Given the description of an element on the screen output the (x, y) to click on. 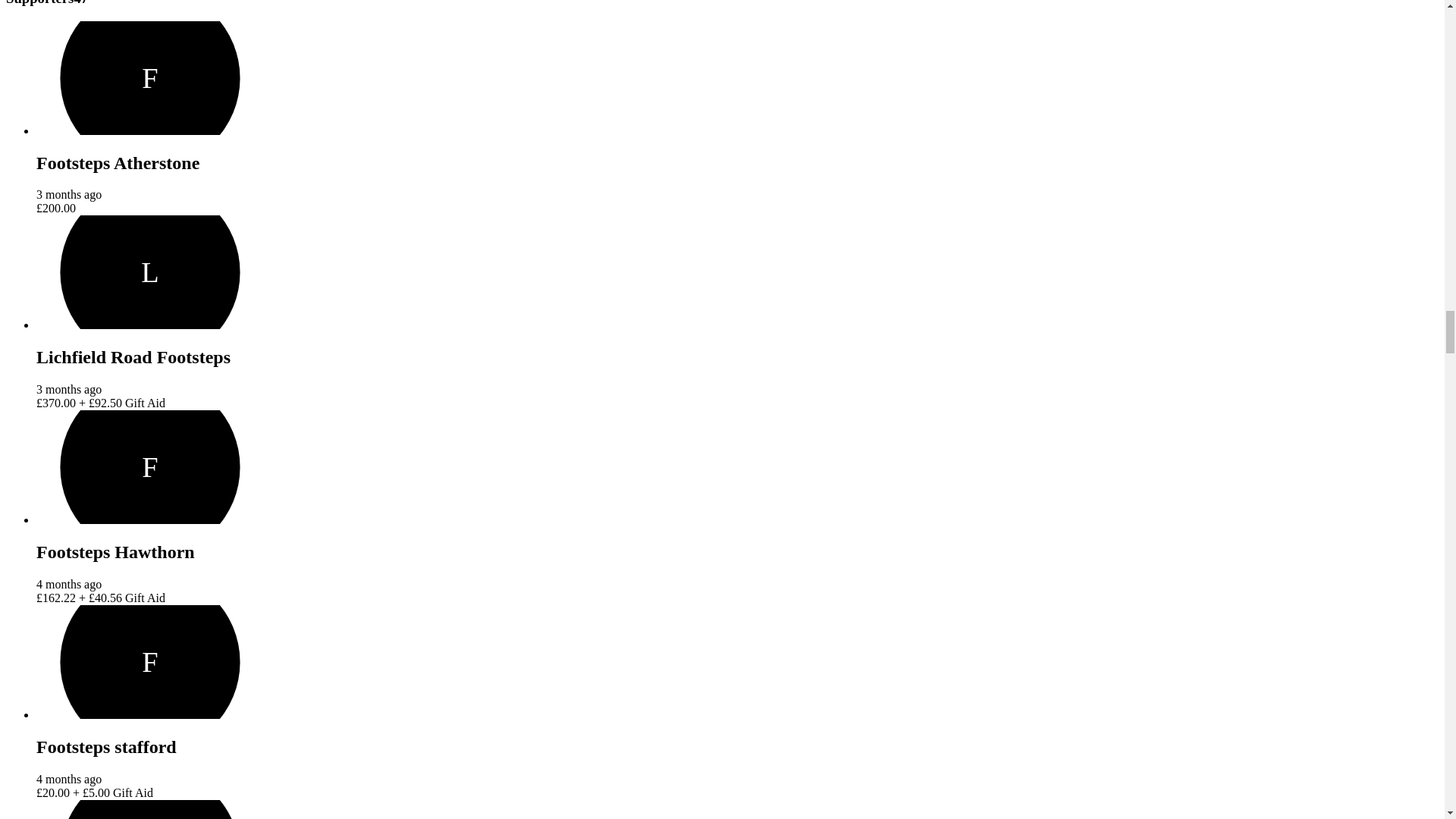
F (149, 78)
F (149, 662)
F (149, 467)
L (149, 272)
F (149, 809)
